Given the description of an element on the screen output the (x, y) to click on. 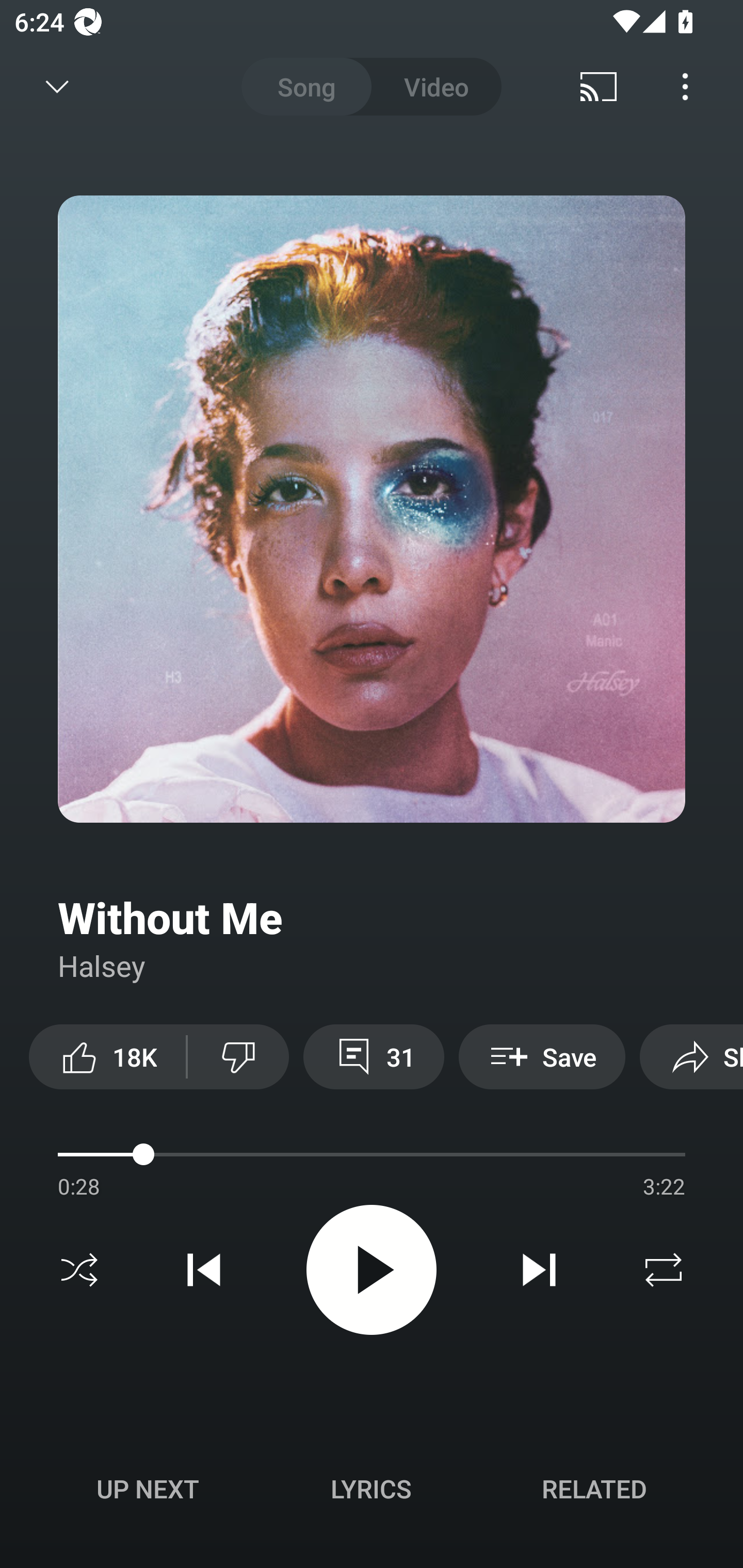
Minimize (57, 86)
Cast. Disconnected (598, 86)
Menu (684, 86)
18K like this video along with 18,871 other people (106, 1056)
Dislike (238, 1056)
31 View 31 comments (373, 1056)
Save Save to playlist (541, 1056)
Share (691, 1056)
Play video (371, 1269)
Shuffle off (79, 1269)
Previous track (203, 1269)
Next track (538, 1269)
Repeat off (663, 1269)
Up next UP NEXT Lyrics LYRICS Related RELATED (371, 1491)
Lyrics LYRICS (370, 1488)
Related RELATED (594, 1488)
